Given the description of an element on the screen output the (x, y) to click on. 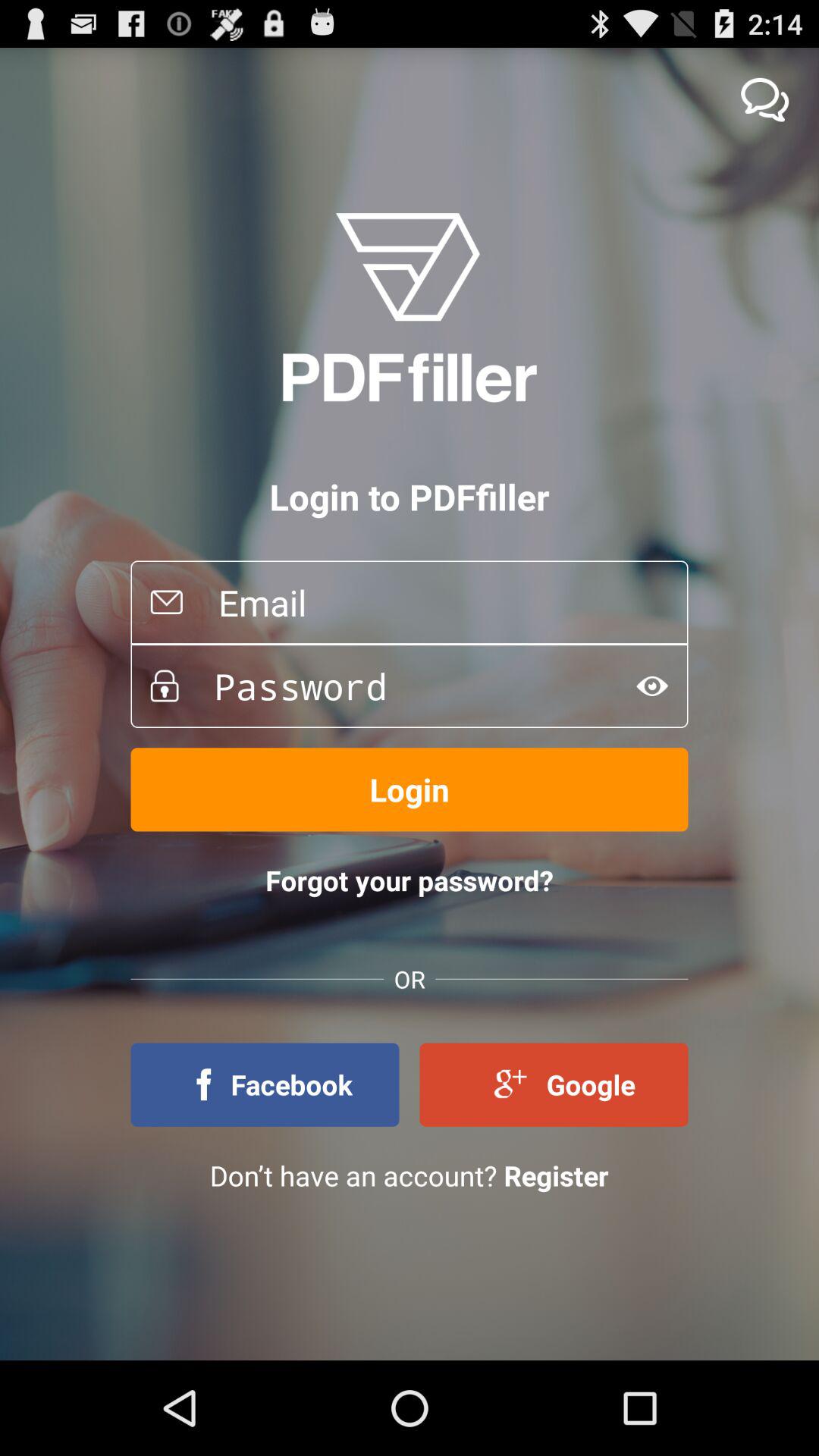
chat with pdffiller (764, 99)
